Given the description of an element on the screen output the (x, y) to click on. 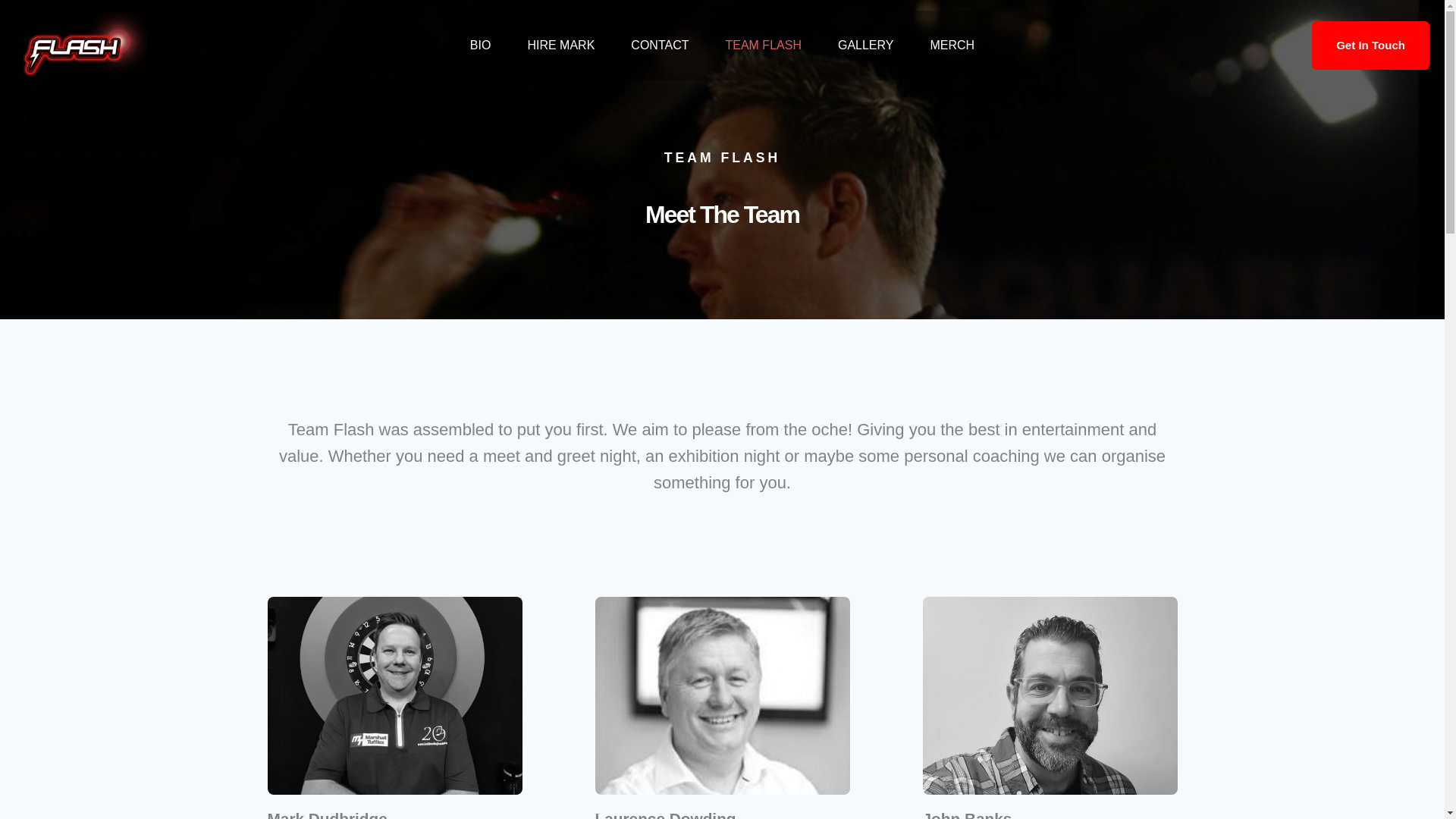
HIRE MARK (560, 45)
CONTACT (659, 45)
TEAM FLASH (762, 45)
MERCH (951, 45)
GALLERY (865, 45)
Get In Touch (1370, 45)
